Given the description of an element on the screen output the (x, y) to click on. 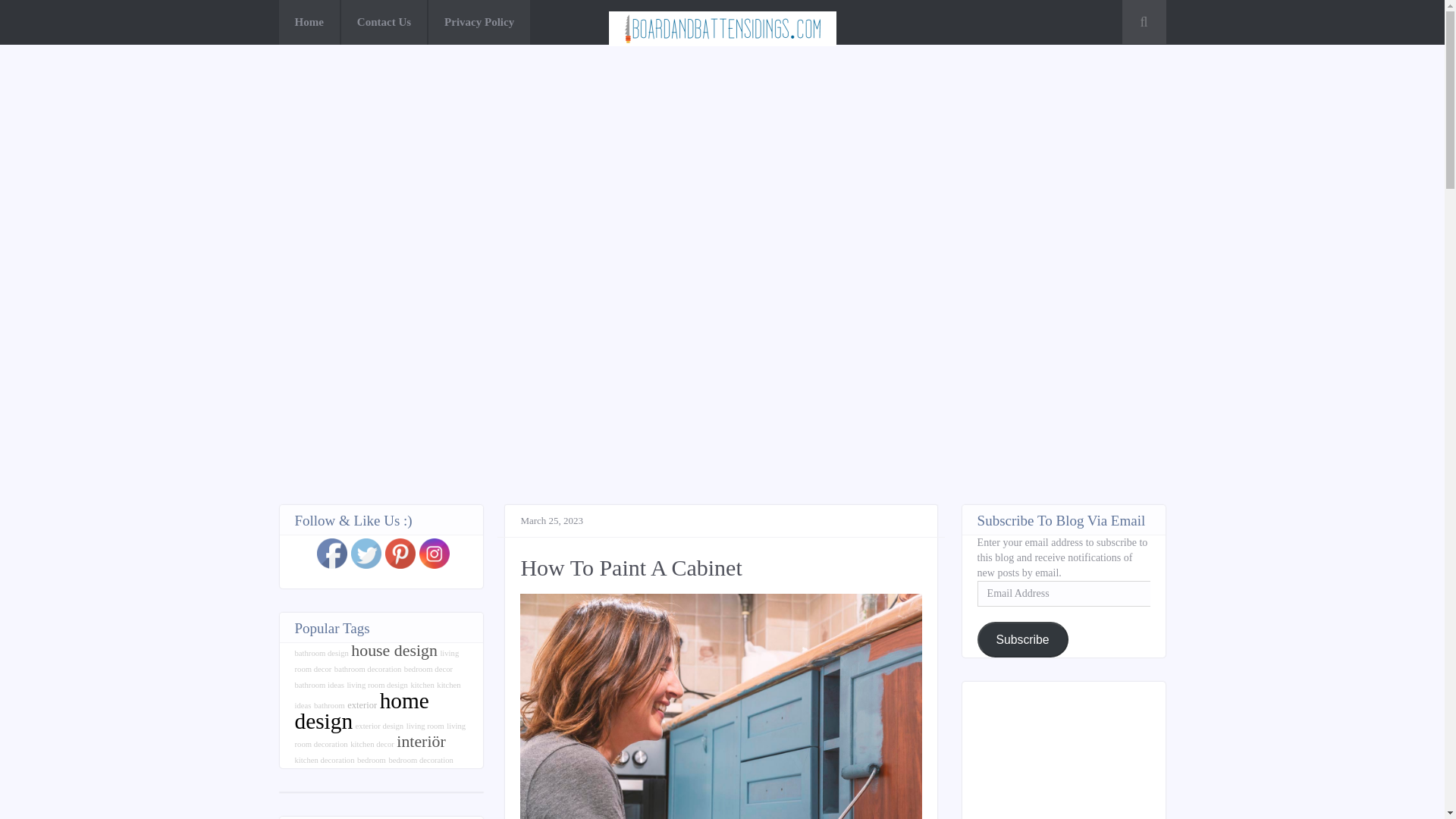
Contact Us (384, 22)
Privacy Policy (479, 22)
Home (309, 22)
